Given the description of an element on the screen output the (x, y) to click on. 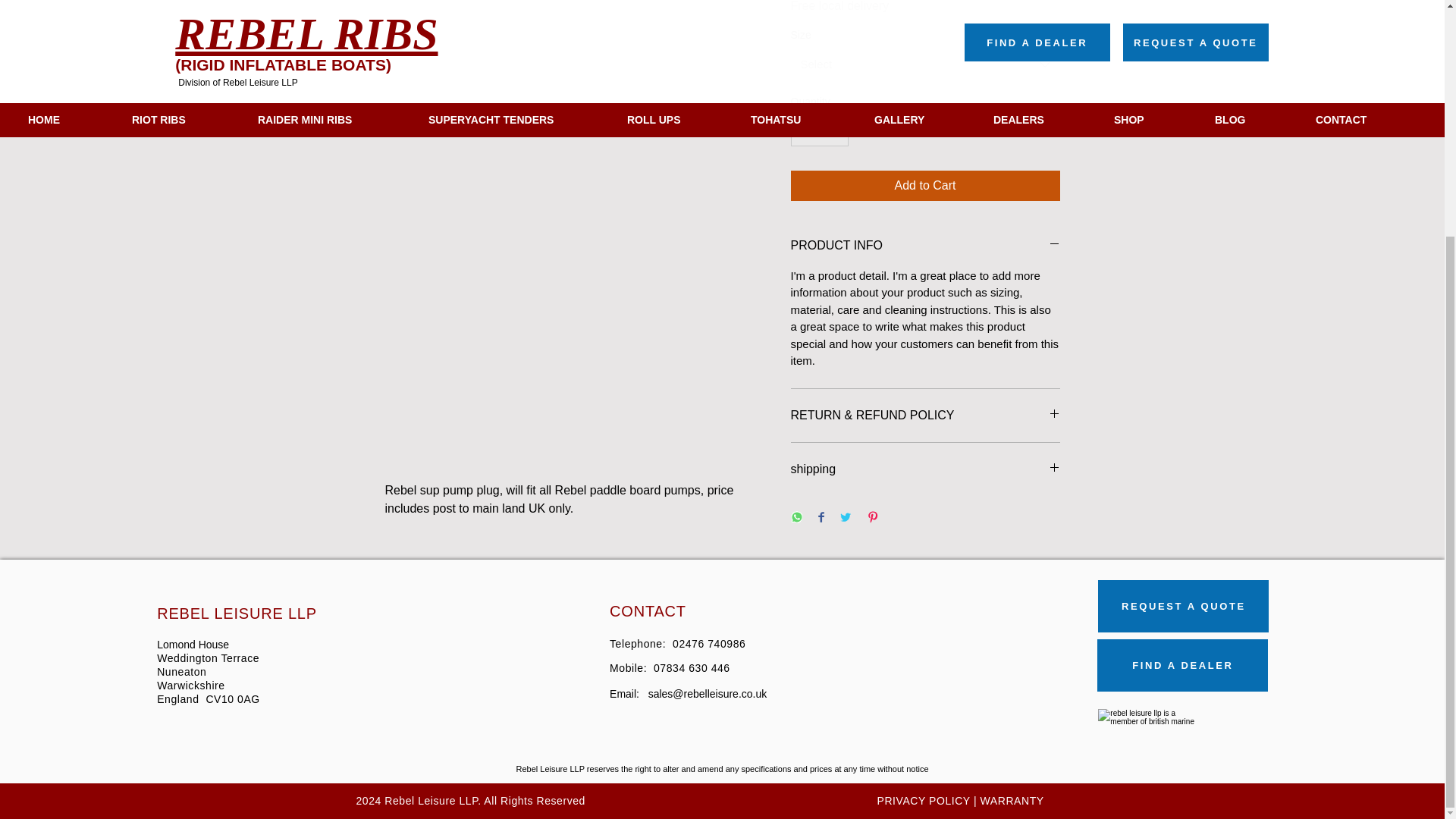
Email:    (628, 693)
Add to Cart (924, 185)
CONTACT (647, 610)
1 (818, 131)
Free local delivery (839, 6)
shipping (924, 469)
Select (924, 64)
Telephone:  02476 740986 (677, 644)
PRODUCT INFO (924, 245)
